Given the description of an element on the screen output the (x, y) to click on. 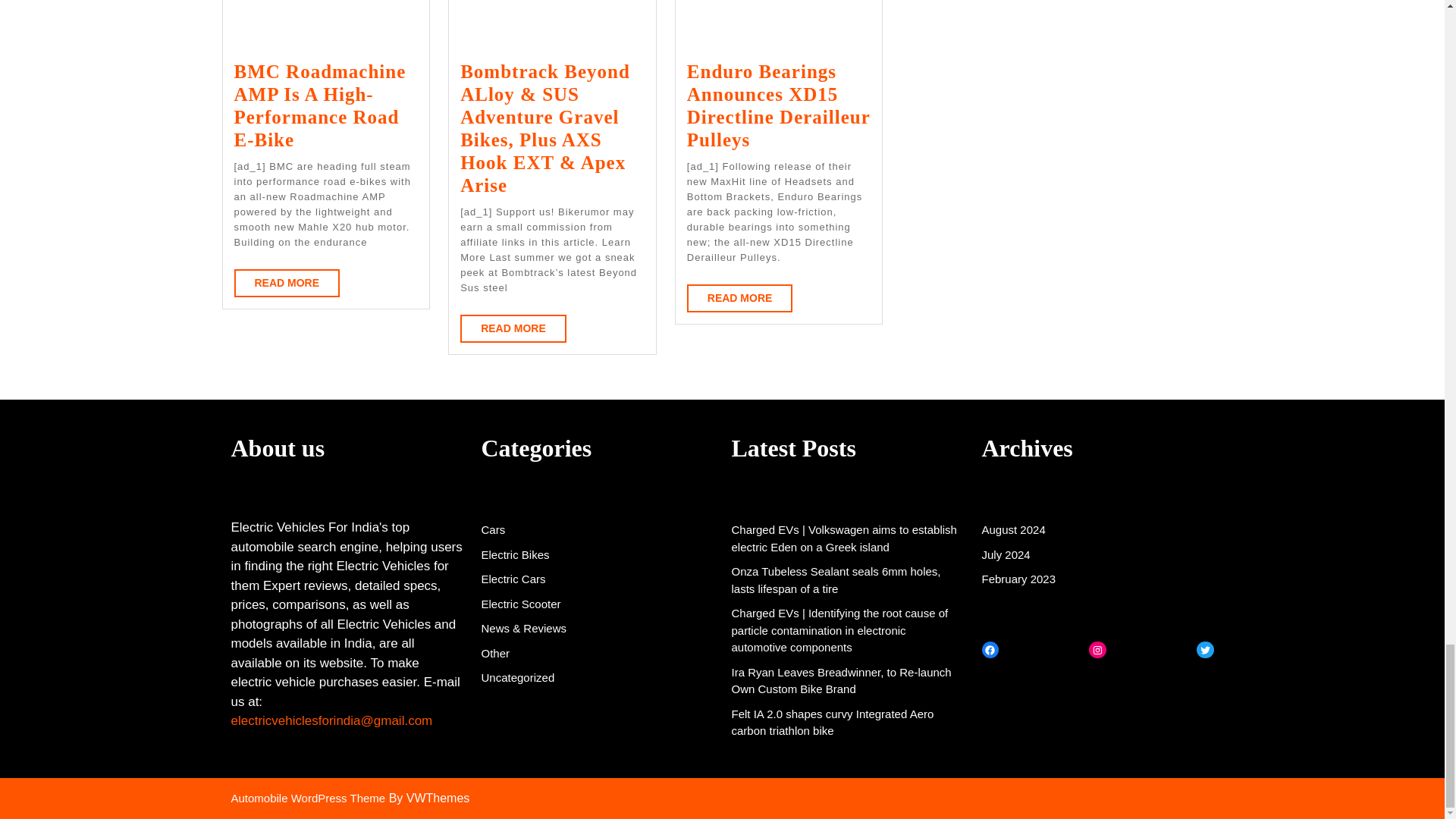
Electric Cars (740, 298)
Cars (285, 283)
Electric Bikes (512, 578)
Electric Scooter (492, 529)
